Given the description of an element on the screen output the (x, y) to click on. 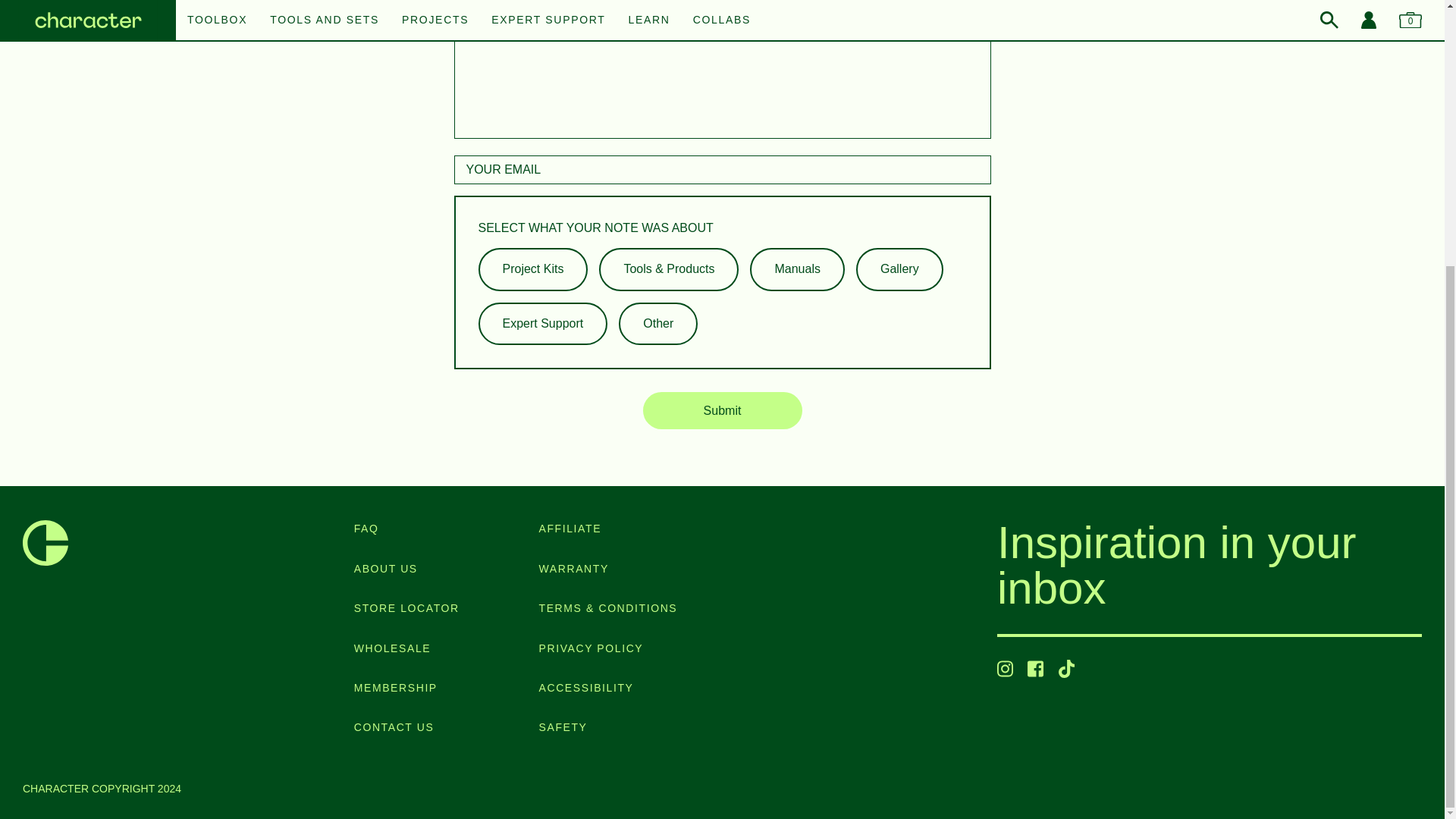
Character Logo - Icon (45, 542)
Site Logo (45, 542)
